Given the description of an element on the screen output the (x, y) to click on. 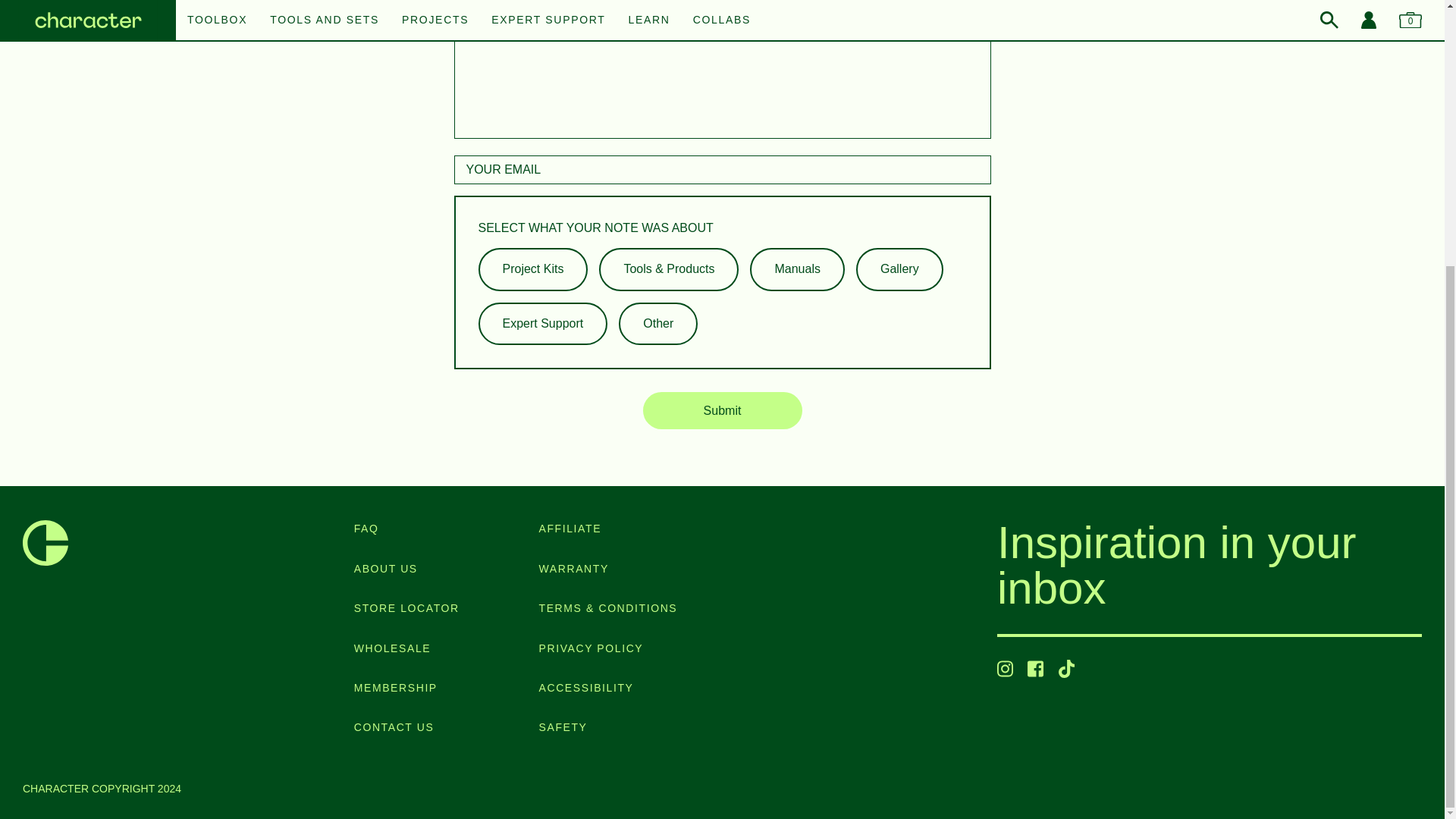
Character Logo - Icon (45, 542)
Site Logo (45, 542)
